Given the description of an element on the screen output the (x, y) to click on. 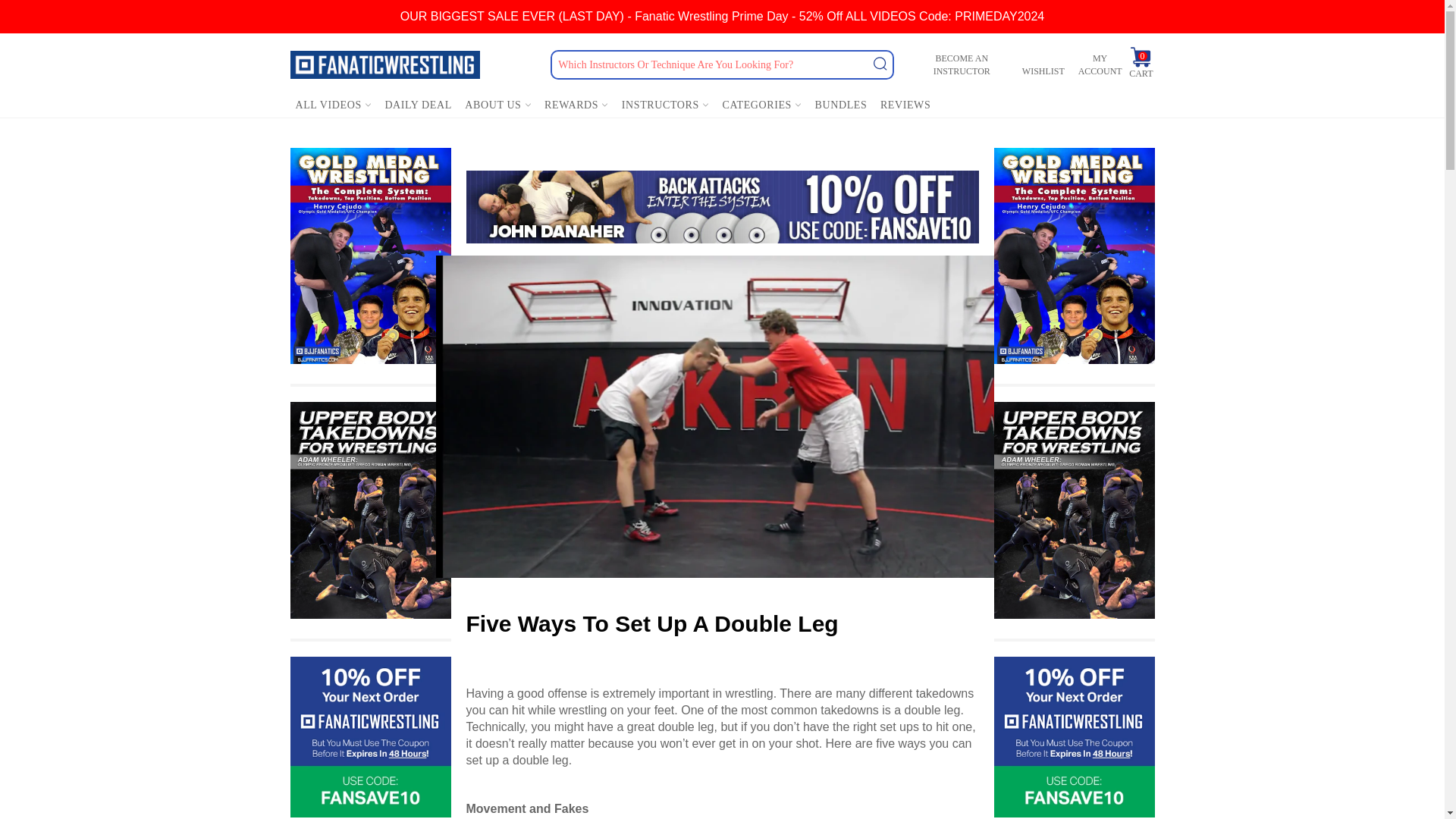
Become An Instructor (961, 64)
